Given the description of an element on the screen output the (x, y) to click on. 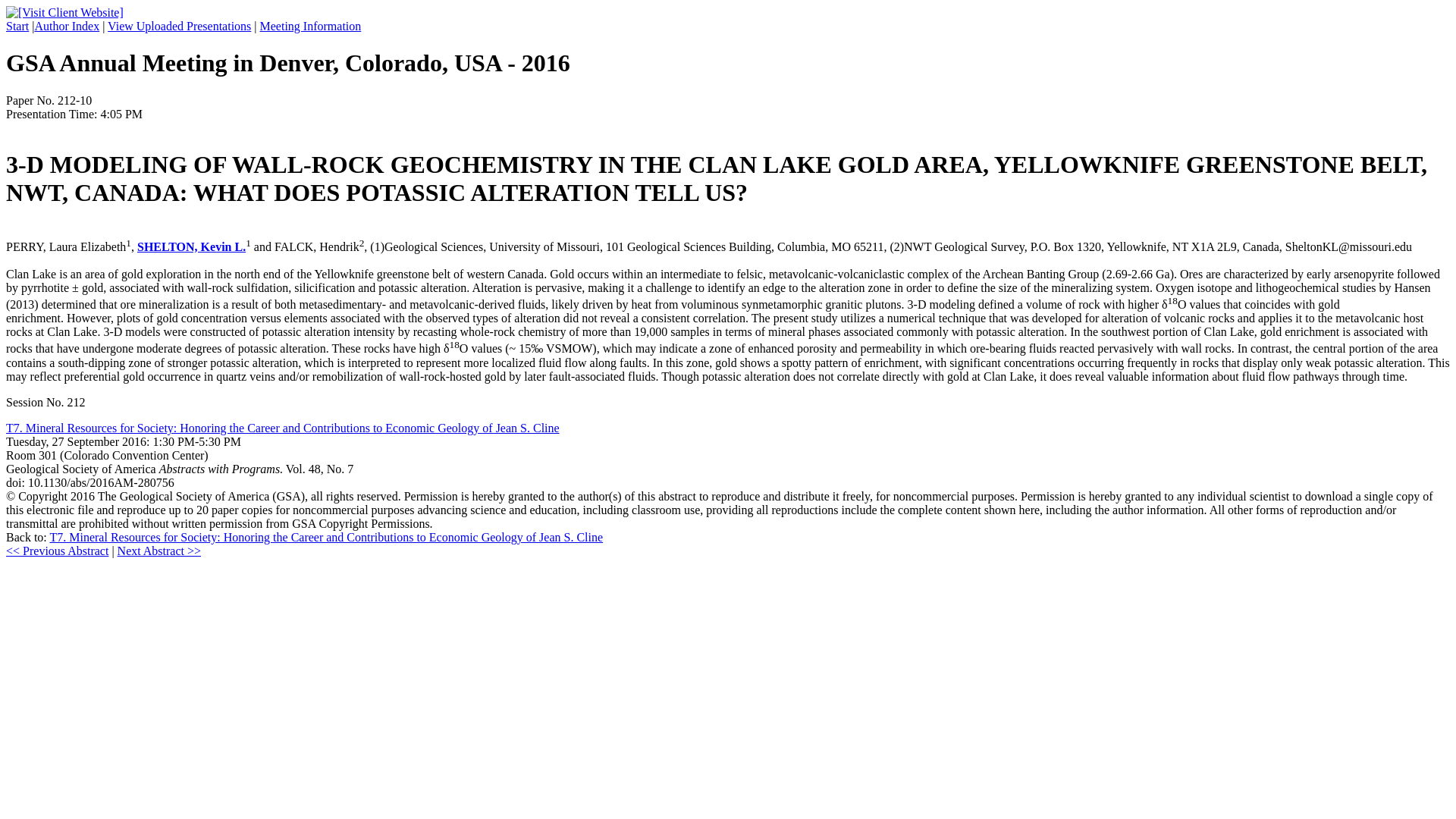
Start (17, 25)
Author Index (66, 25)
Meeting Information (310, 25)
View Uploaded Presentations (178, 25)
SHELTON, Kevin L. (191, 246)
